Given the description of an element on the screen output the (x, y) to click on. 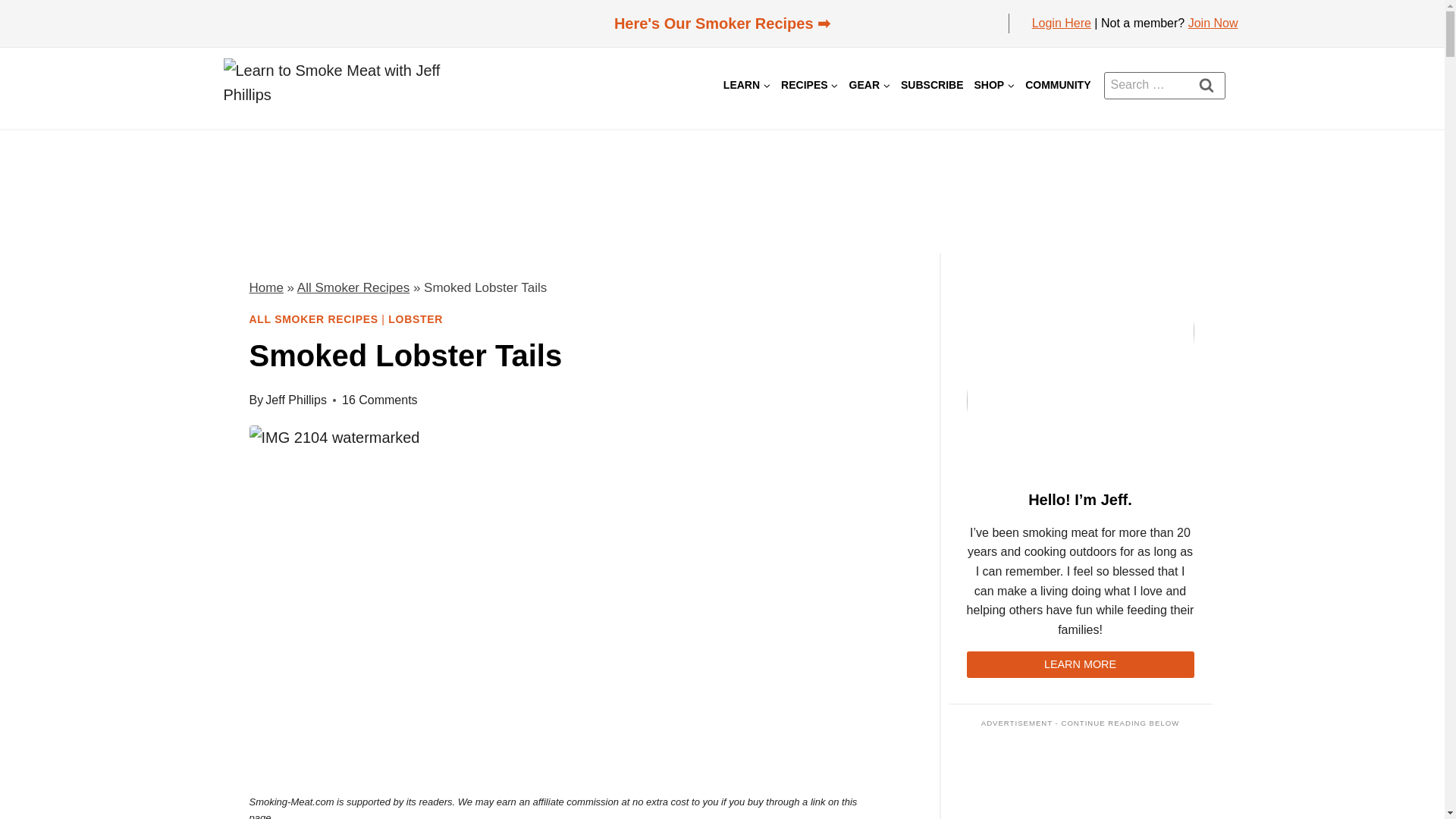
RECIPES (809, 85)
SUBSCRIBE (931, 85)
SHOP (994, 85)
Join Now (1213, 22)
Login Here (1061, 22)
Search (1206, 84)
Search (1206, 84)
GEAR (869, 85)
16 Comments (379, 400)
LEARN (746, 85)
